Given the description of an element on the screen output the (x, y) to click on. 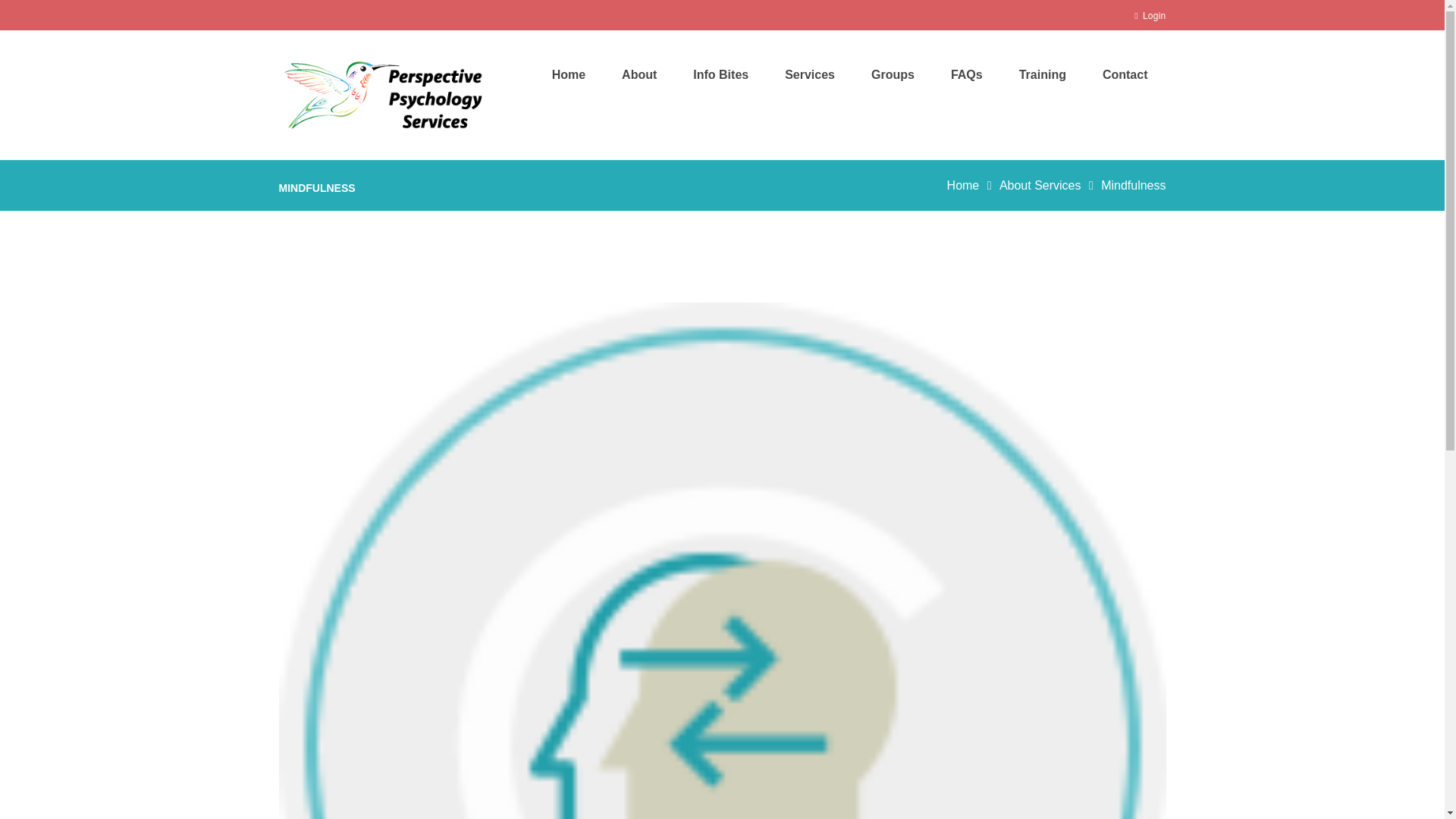
Training (1042, 74)
FAQs (967, 74)
Groups (893, 74)
Info Bites (721, 74)
Home (963, 185)
Home (569, 74)
About (639, 74)
Services (810, 74)
About Services (1039, 185)
Contact (1125, 74)
Login (1150, 14)
